Given the description of an element on the screen output the (x, y) to click on. 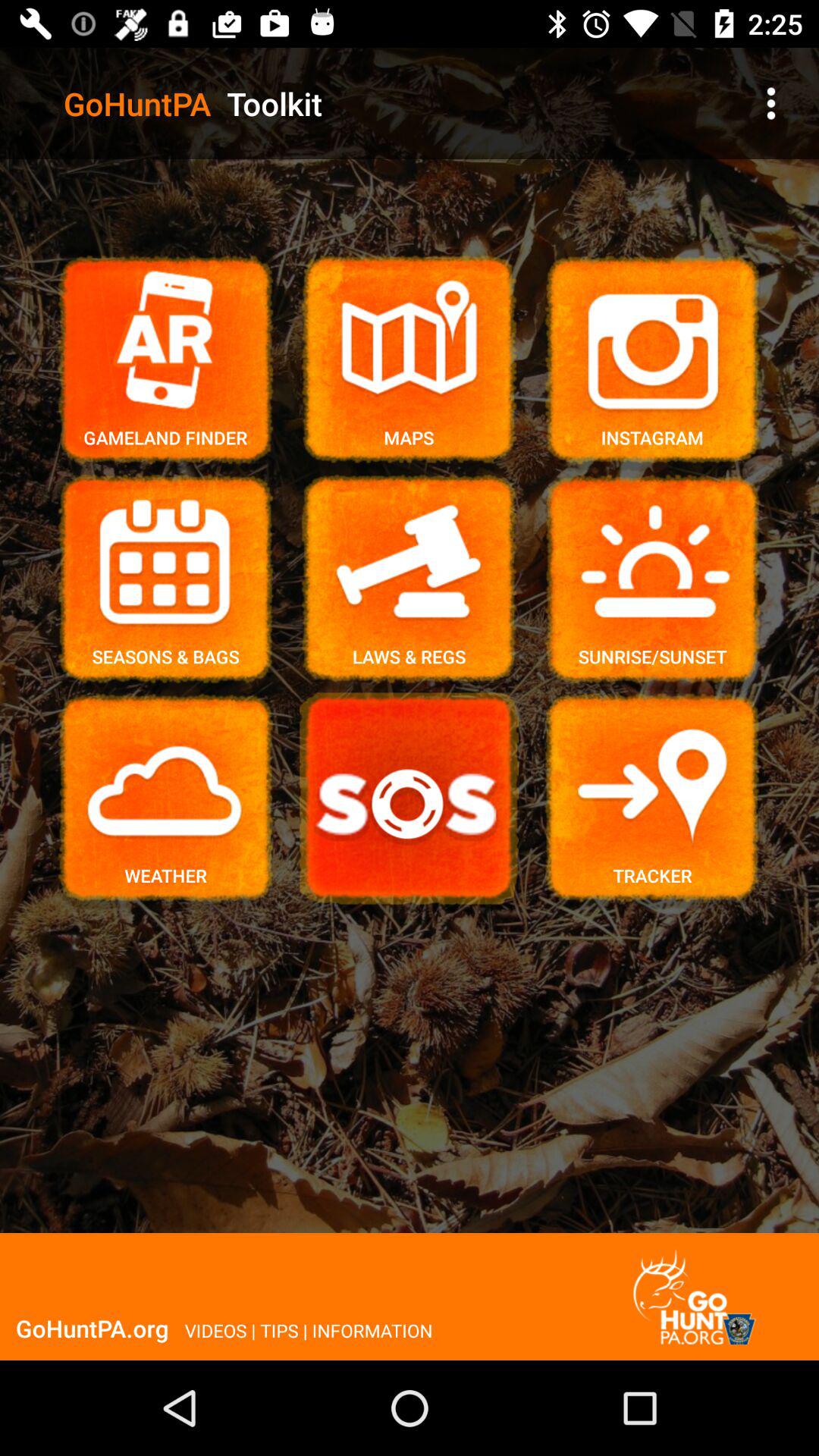
select item above instagram icon (771, 103)
